Given the description of an element on the screen output the (x, y) to click on. 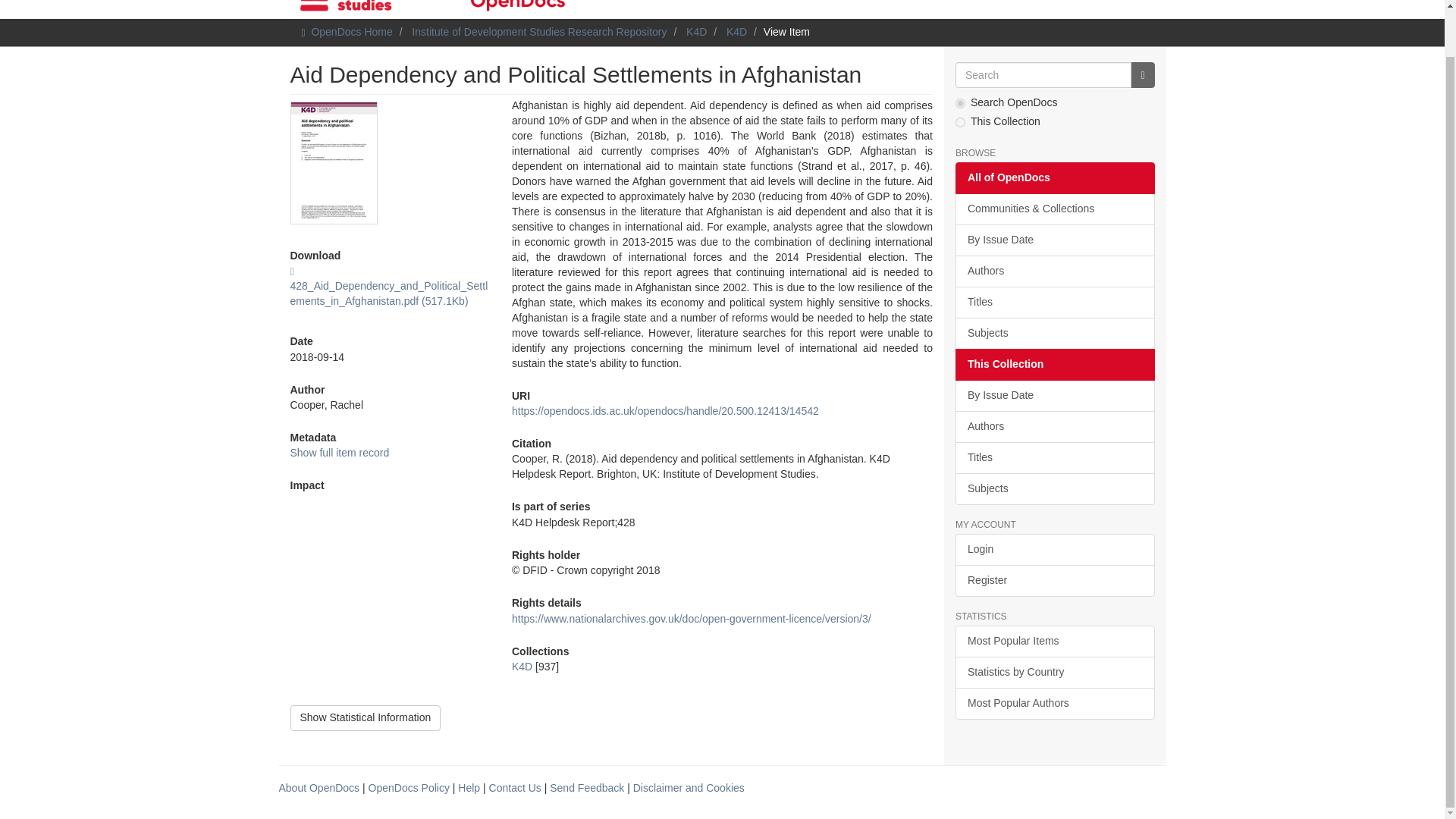
This Collection (1054, 364)
All of OpenDocs (1054, 178)
Titles (1054, 458)
K4D (695, 31)
Show Statistical Information (365, 718)
Show full item record (338, 452)
Subjects (1054, 489)
Go (1142, 74)
Subjects (1054, 333)
OpenDocs Home (351, 31)
By Issue Date (1054, 240)
Authors (1054, 427)
K4D (522, 666)
Authors (1054, 271)
Titles (1054, 302)
